Given the description of an element on the screen output the (x, y) to click on. 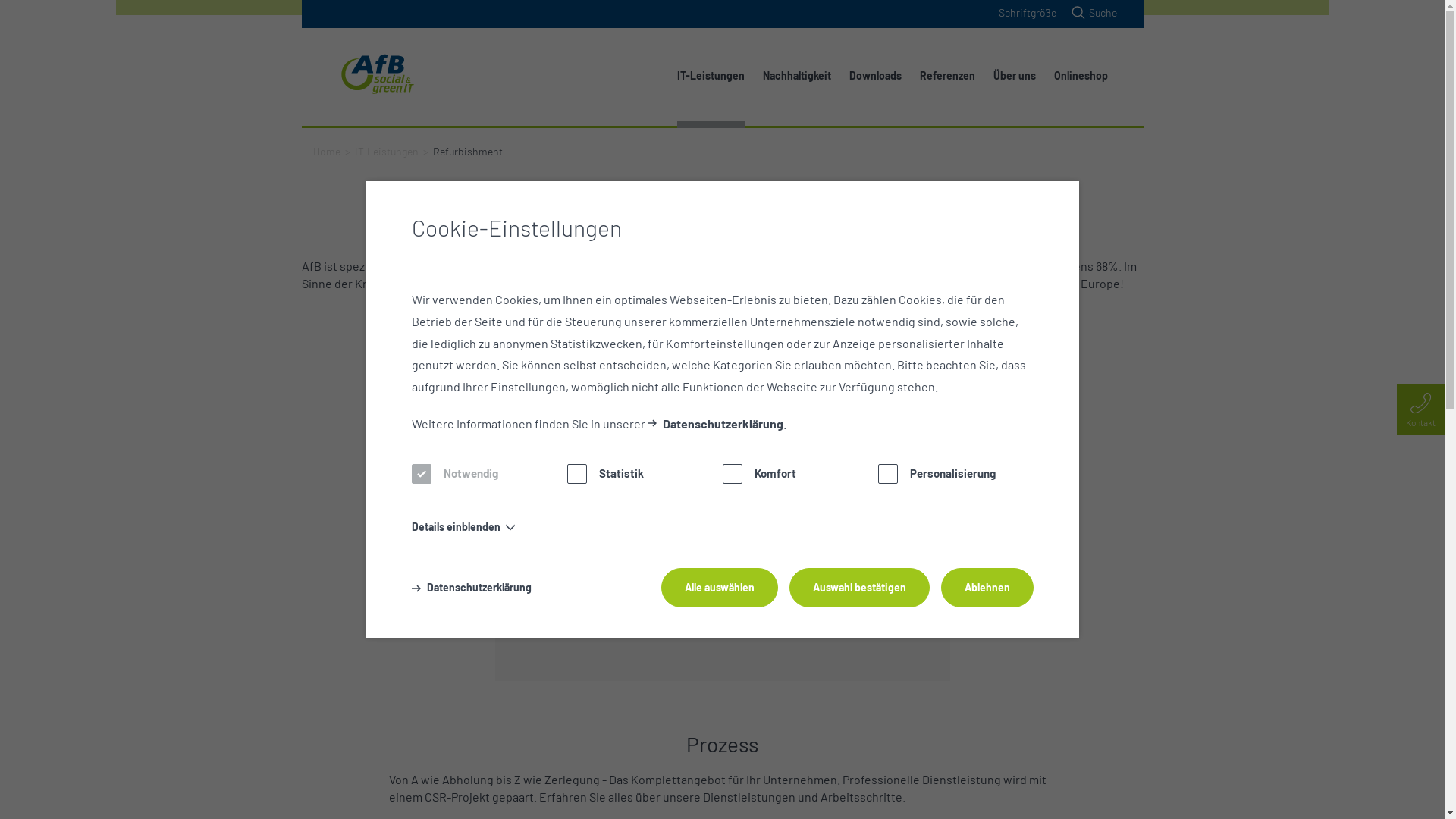
Downloads Element type: text (875, 75)
Home Element type: text (325, 150)
Onlineshop Element type: text (1080, 75)
Suche Element type: text (1092, 12)
Ablehnen Element type: text (986, 587)
IT-Leistungen Element type: text (386, 150)
